Given the description of an element on the screen output the (x, y) to click on. 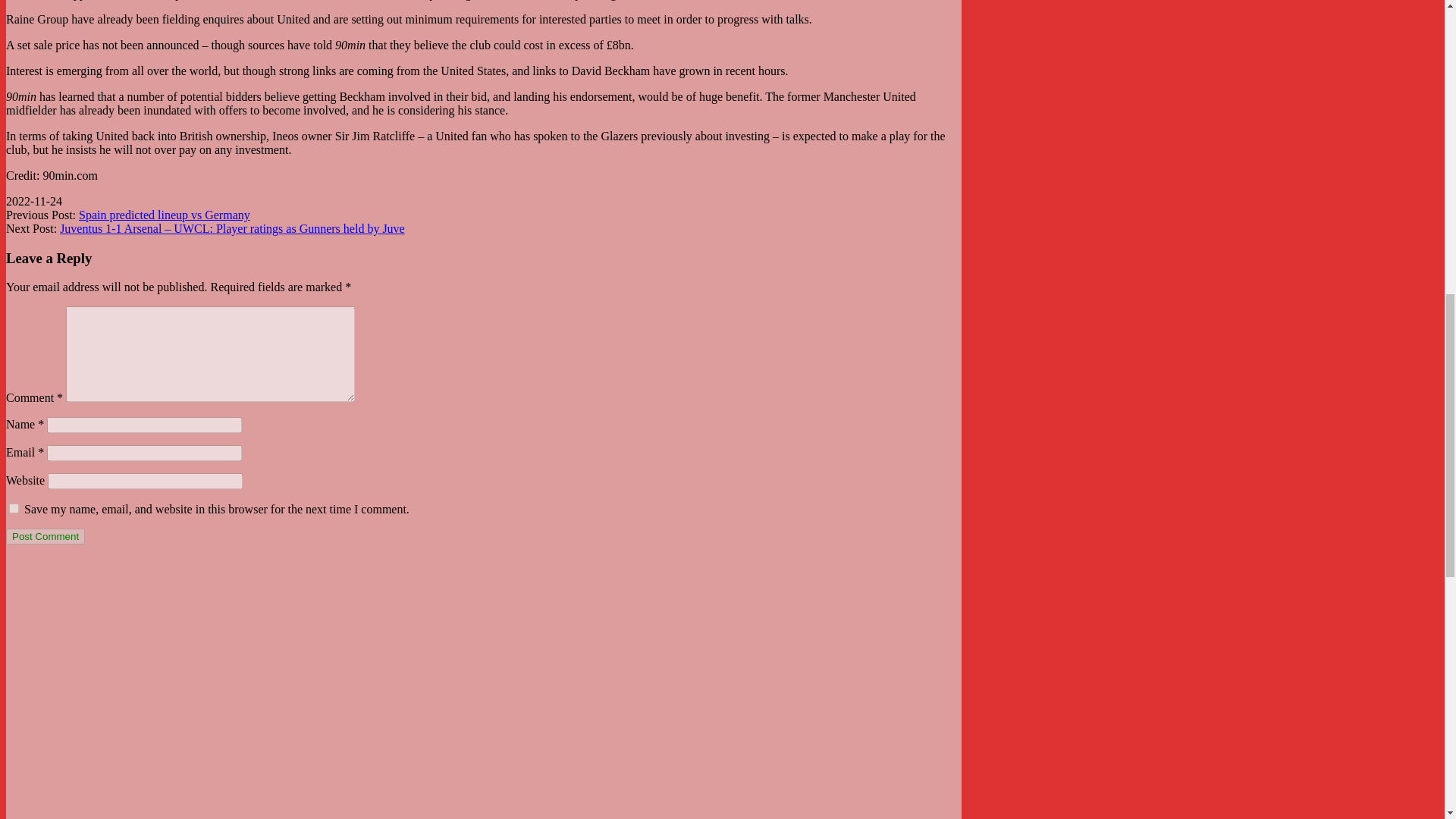
Post Comment (44, 536)
yes (13, 508)
Spain predicted lineup vs Germany (164, 214)
Post Comment (44, 536)
